Given the description of an element on the screen output the (x, y) to click on. 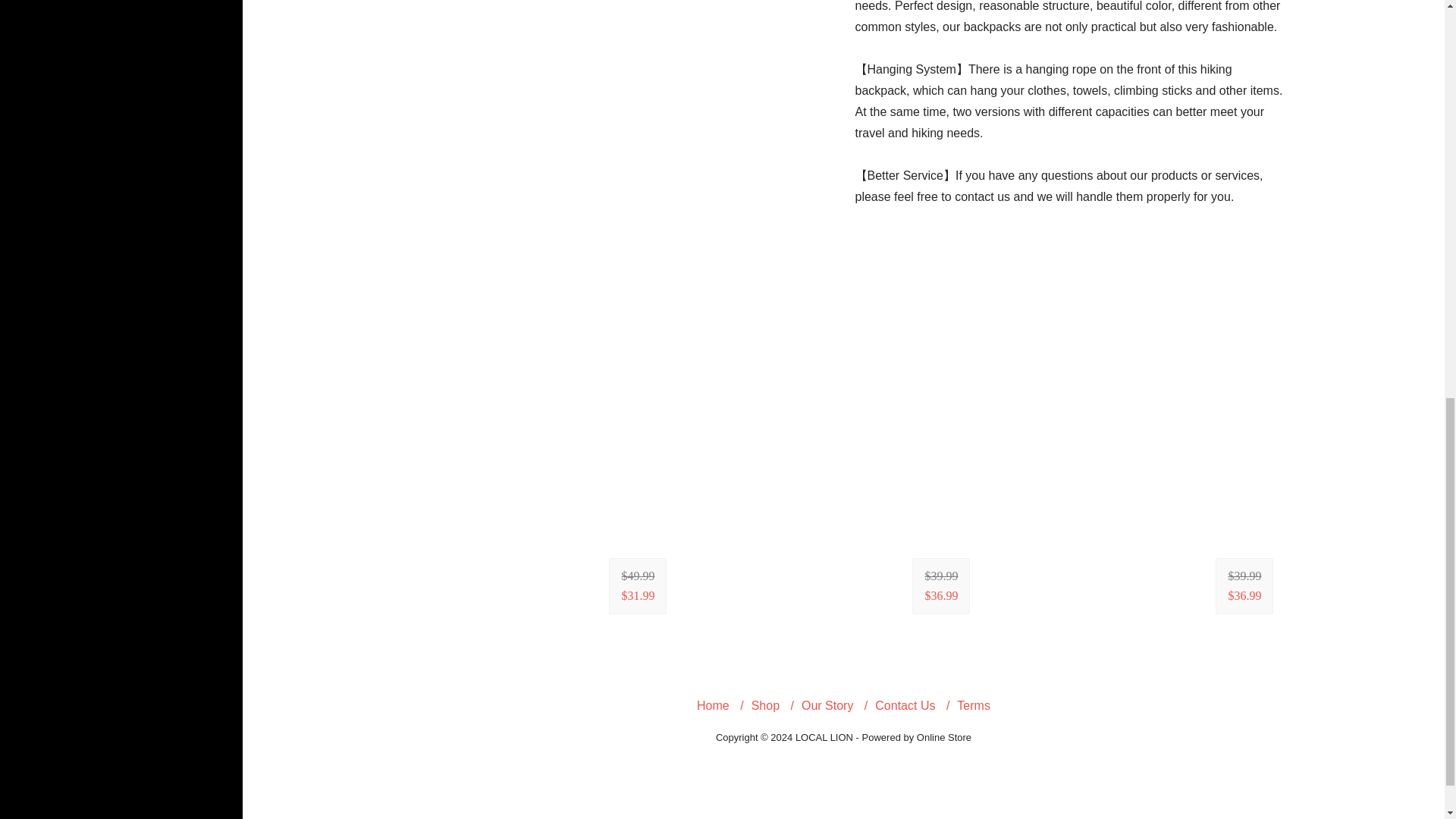
Shop (764, 705)
Our Story (827, 705)
Powered by Online Store (916, 737)
Contact Us (904, 705)
Terms (973, 705)
Home (713, 705)
